Given the description of an element on the screen output the (x, y) to click on. 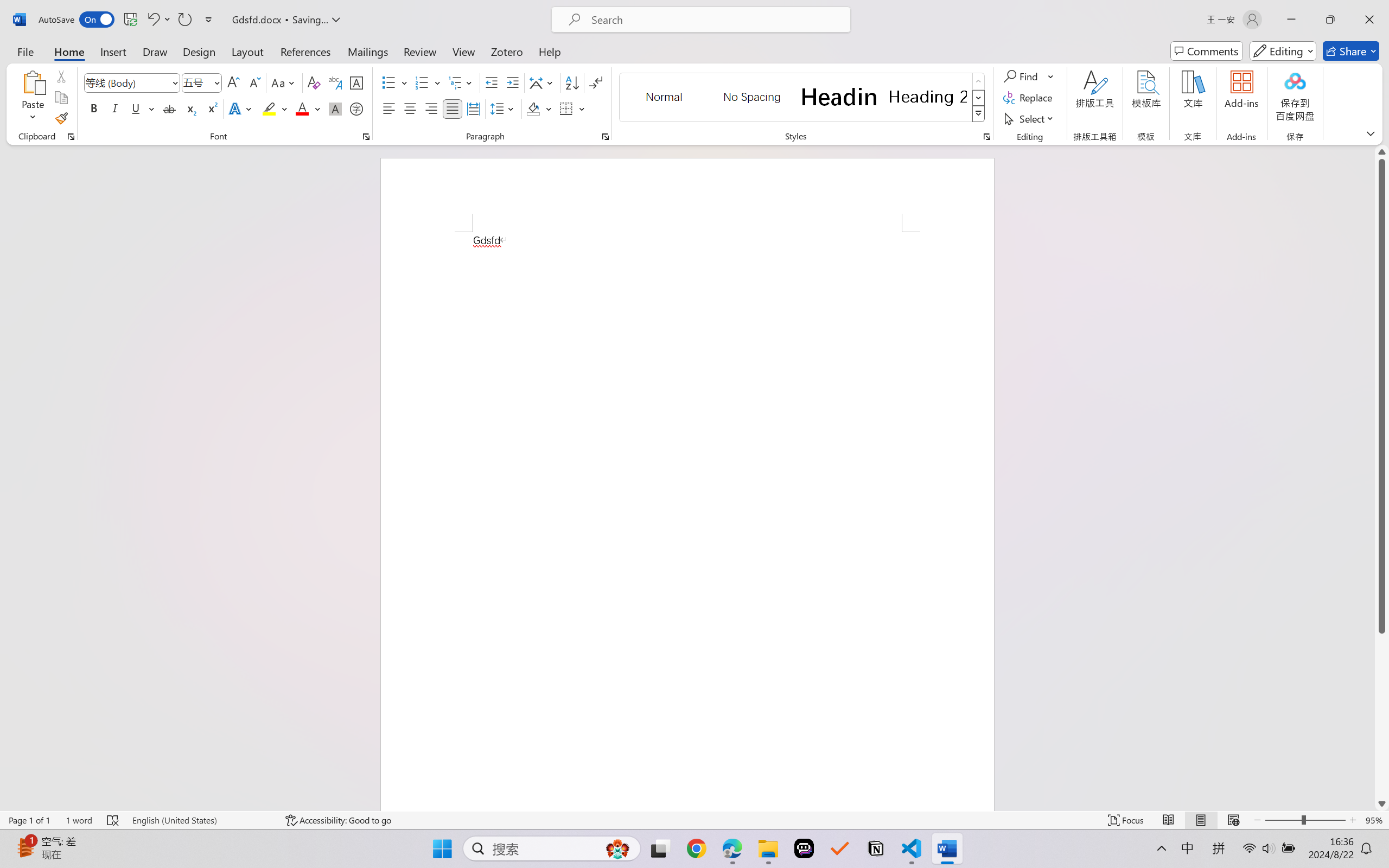
Text Highlight Color Yellow (269, 108)
Show/Hide Editing Marks (595, 82)
Phonetic Guide... (334, 82)
Clear Formatting (313, 82)
Center (409, 108)
AutomationID: QuickStylesGallery (802, 97)
Superscript (210, 108)
